Given the description of an element on the screen output the (x, y) to click on. 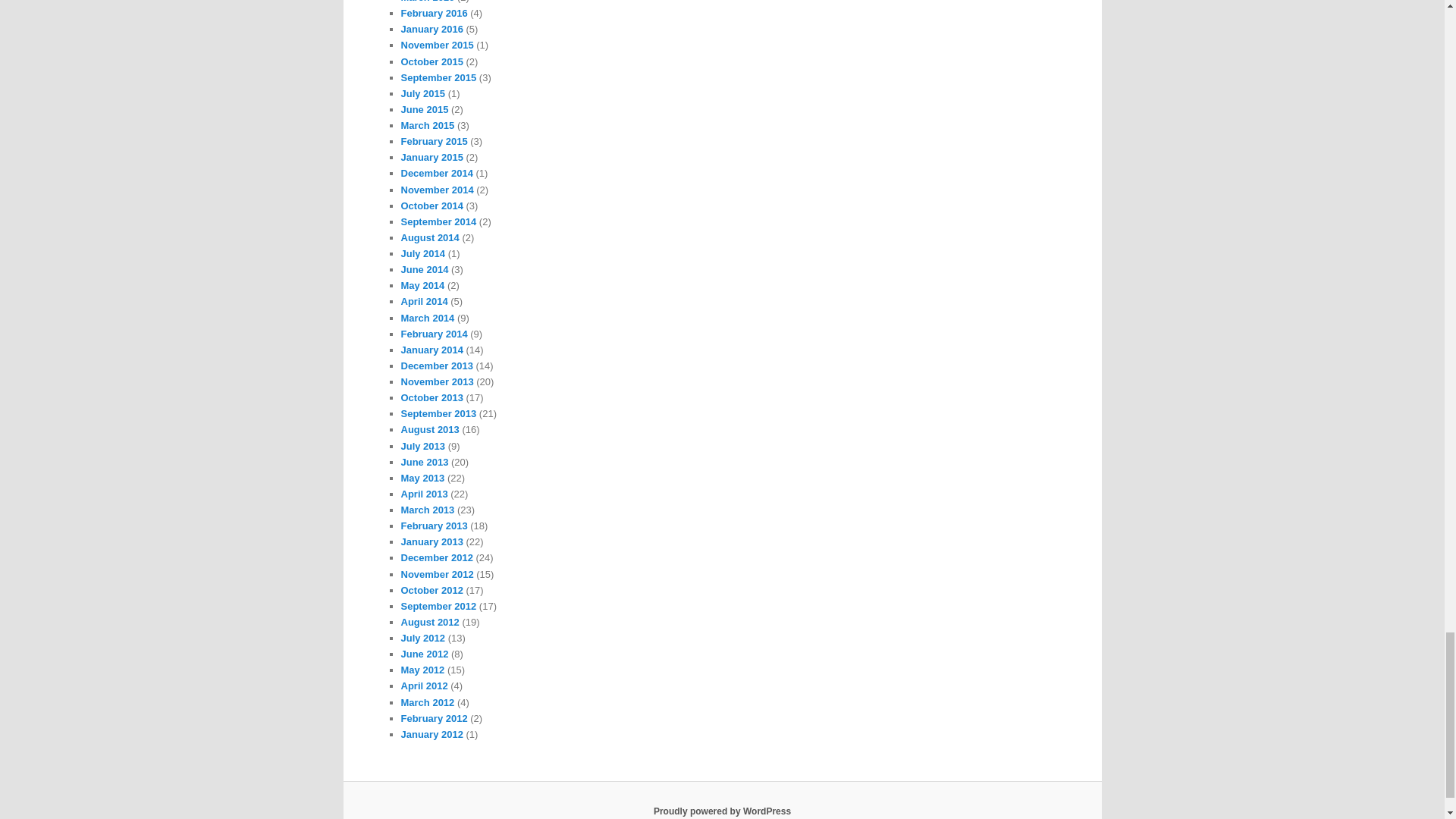
Semantic Personal Publishing Platform (721, 810)
